Given the description of an element on the screen output the (x, y) to click on. 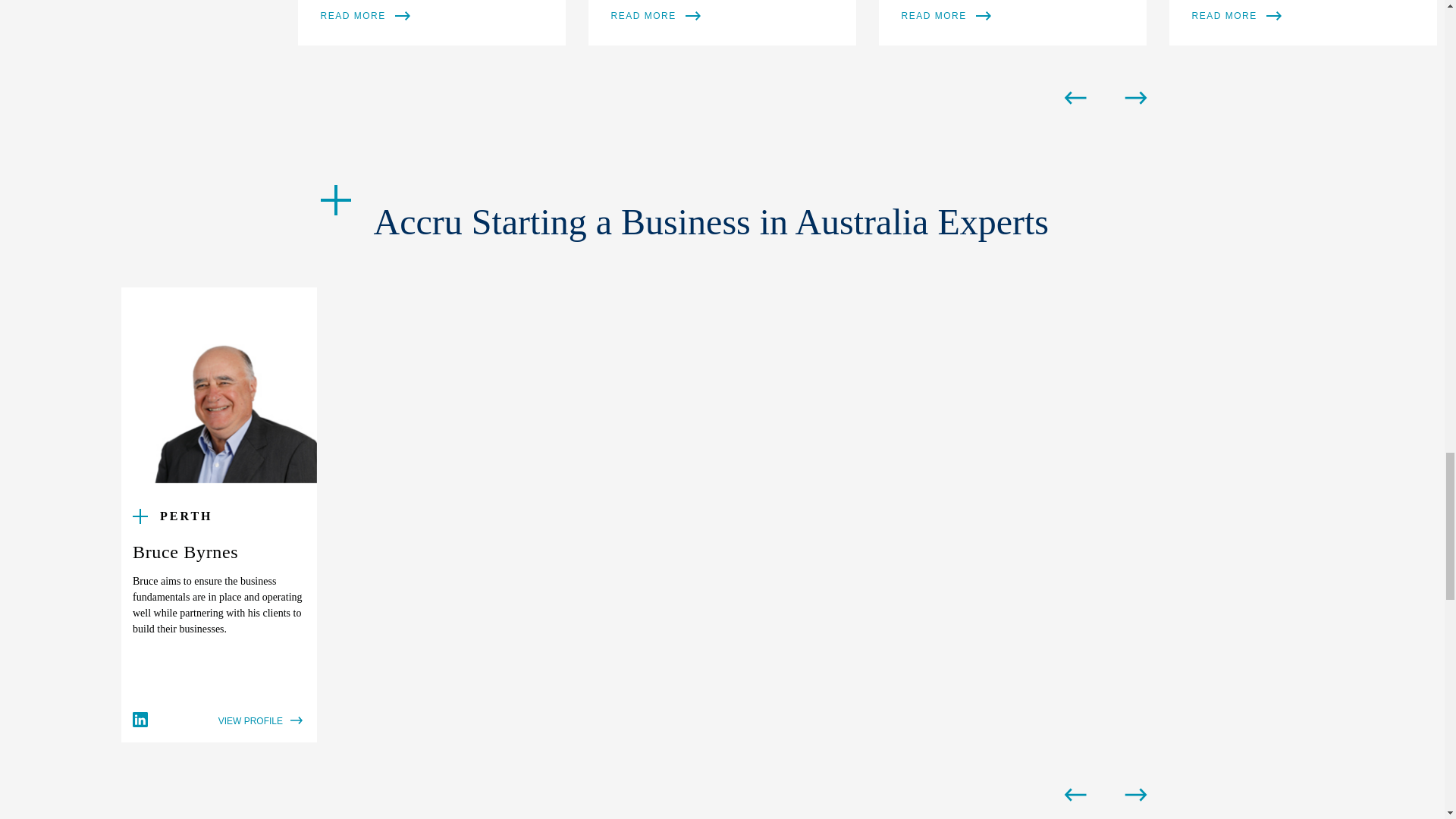
Bruce Byrnes (218, 385)
